Given the description of an element on the screen output the (x, y) to click on. 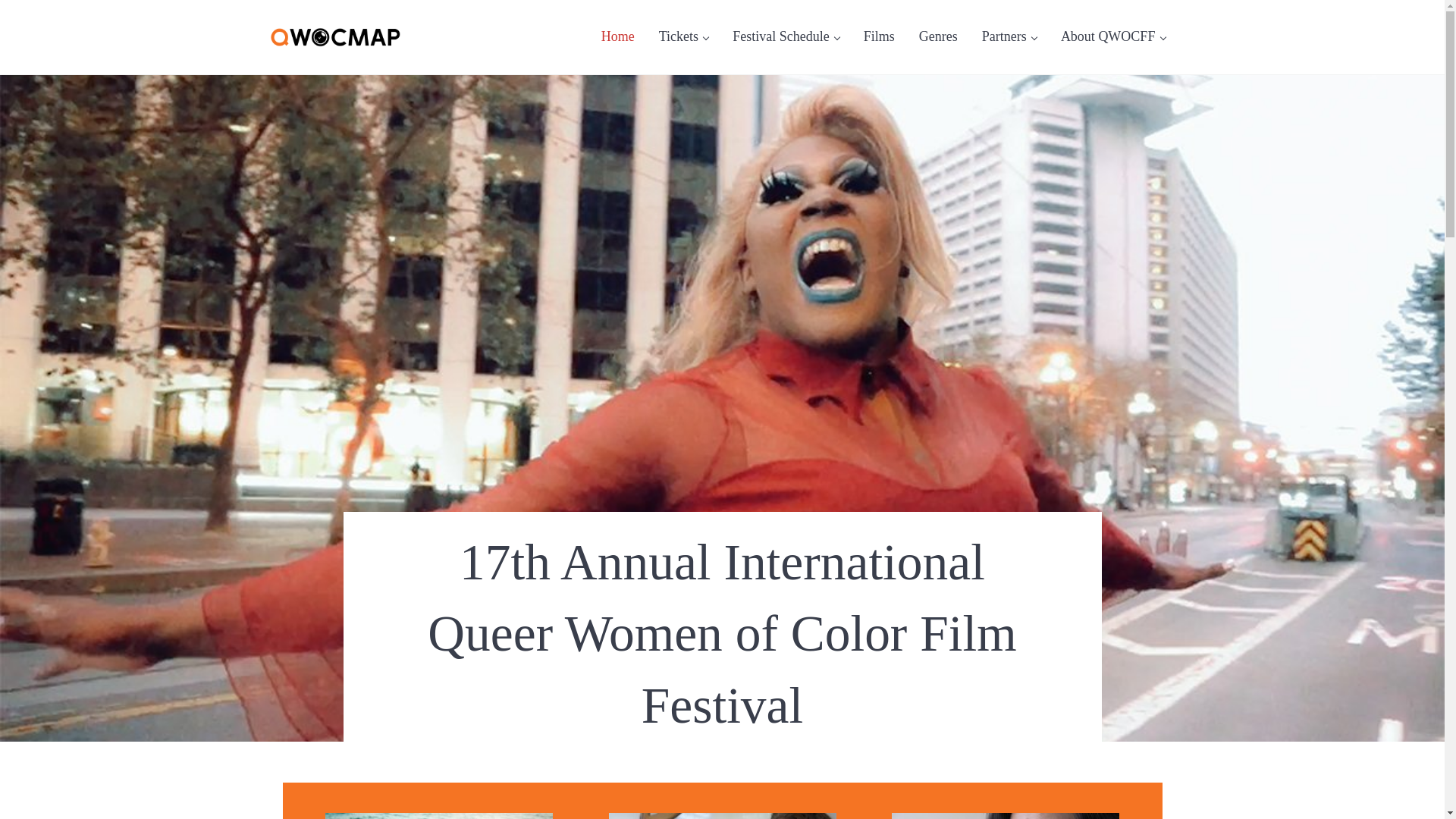
Partners (1008, 36)
About QWOCFF (1112, 36)
Films (879, 36)
Tickets (683, 36)
Festival Schedule (785, 36)
Genres (938, 36)
Home (617, 36)
